Given the description of an element on the screen output the (x, y) to click on. 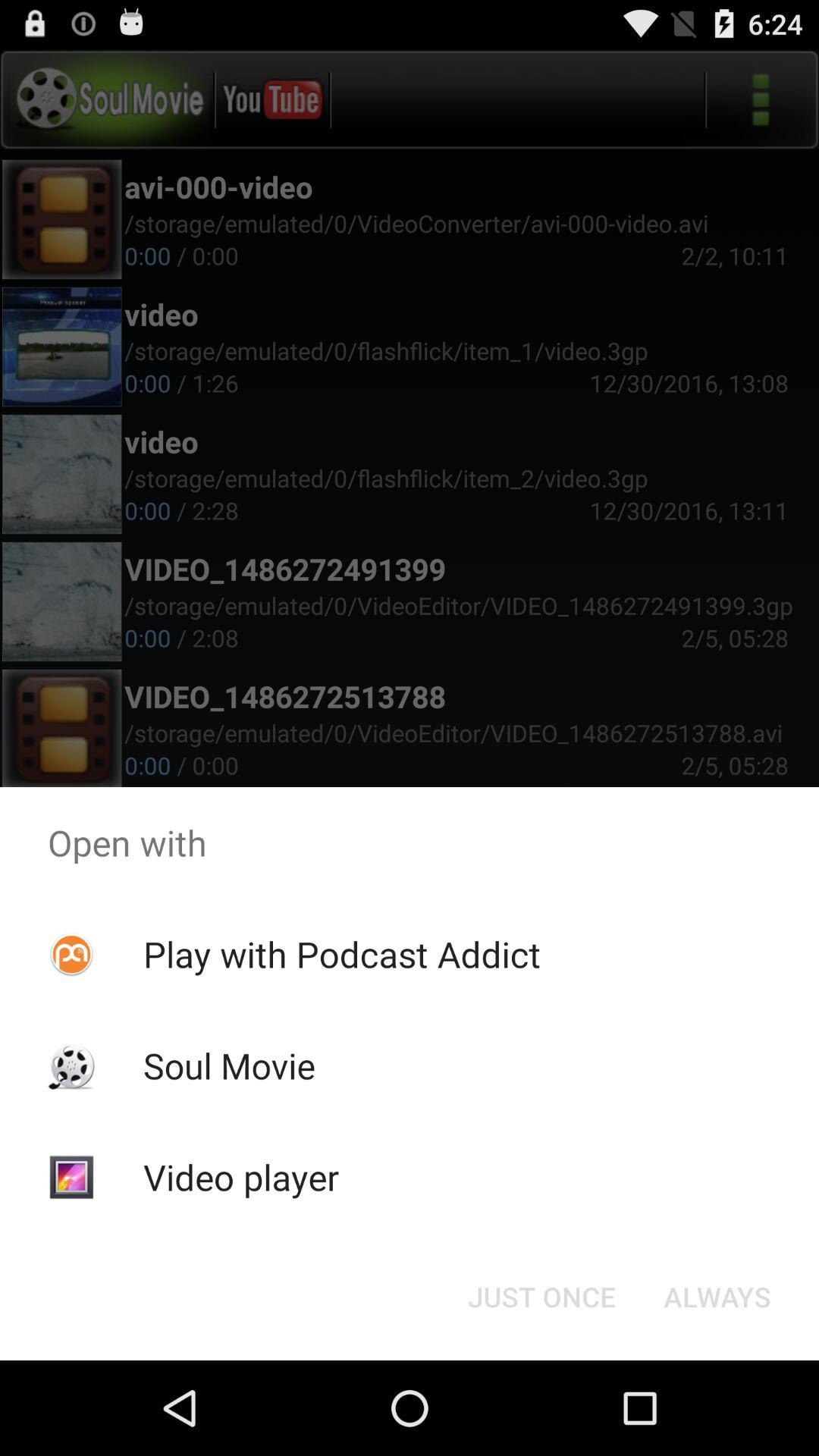
select button next to the always (541, 1296)
